Given the description of an element on the screen output the (x, y) to click on. 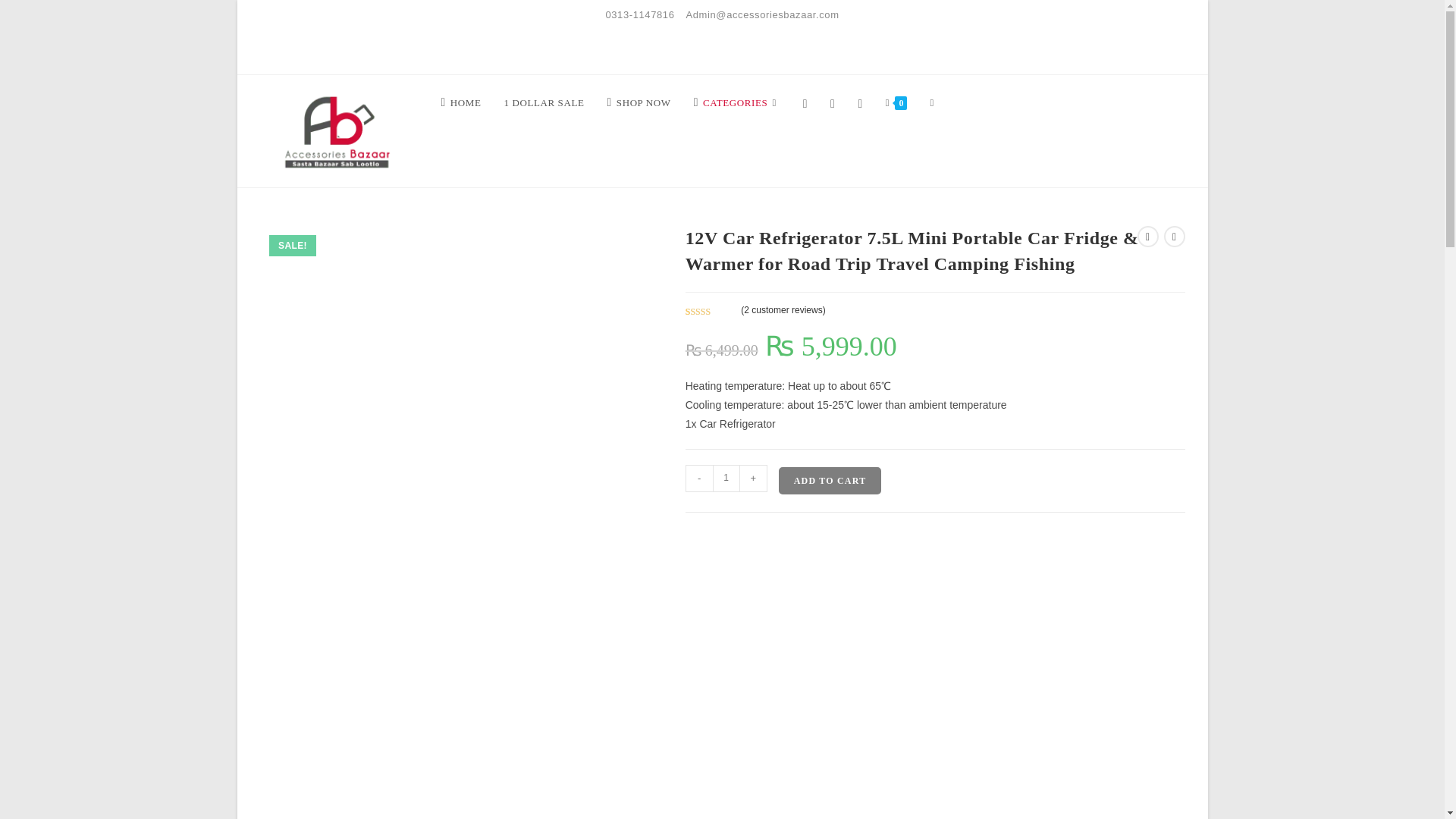
SHOP NOW (638, 103)
1 (726, 478)
1 DOLLAR SALE (543, 103)
0313-1147816 (639, 14)
HOME (460, 103)
CATEGORIES (737, 103)
